Given the description of an element on the screen output the (x, y) to click on. 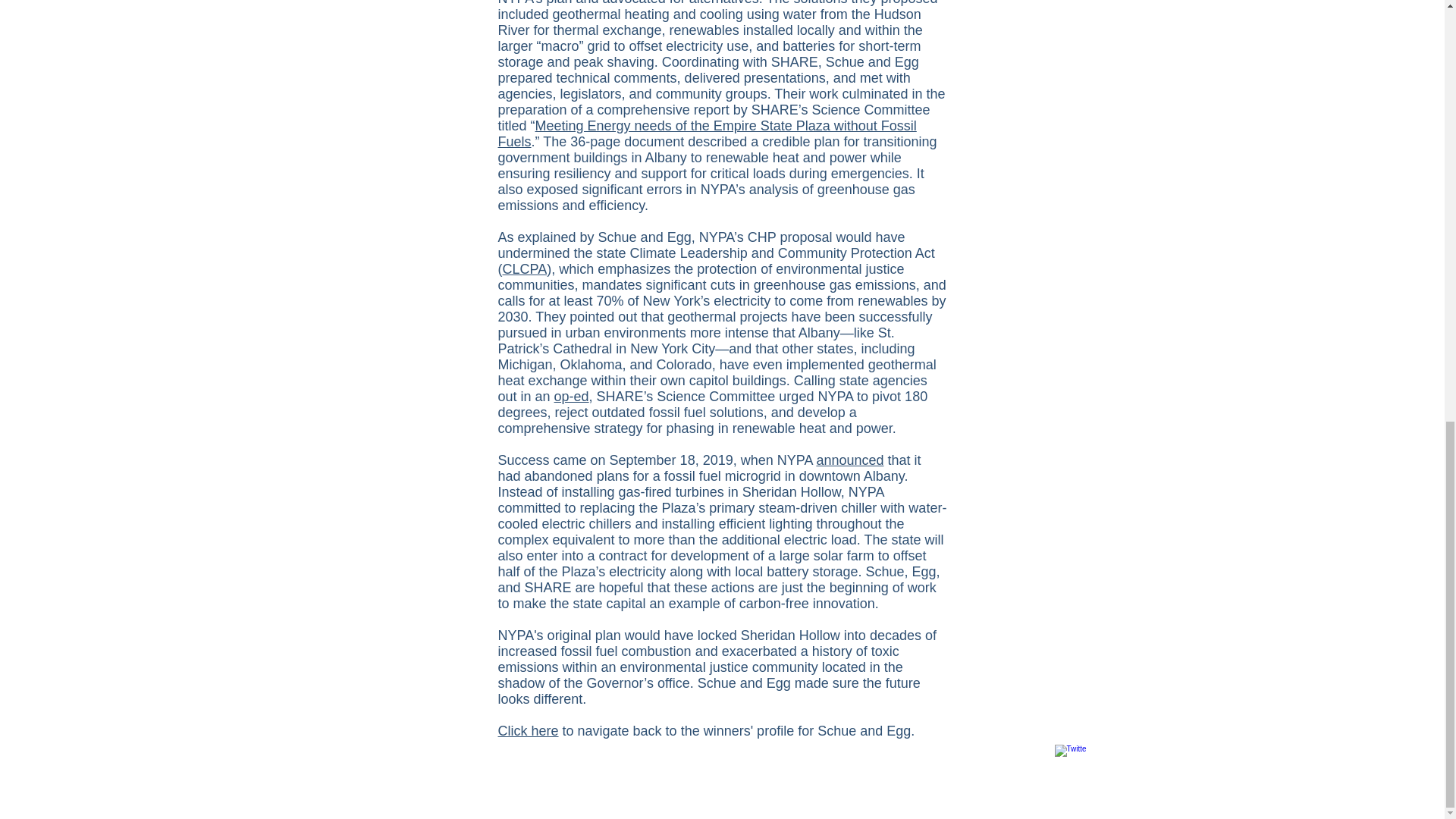
CLCPA (524, 268)
Click here (527, 730)
announced (849, 459)
op-ed (571, 396)
